Given the description of an element on the screen output the (x, y) to click on. 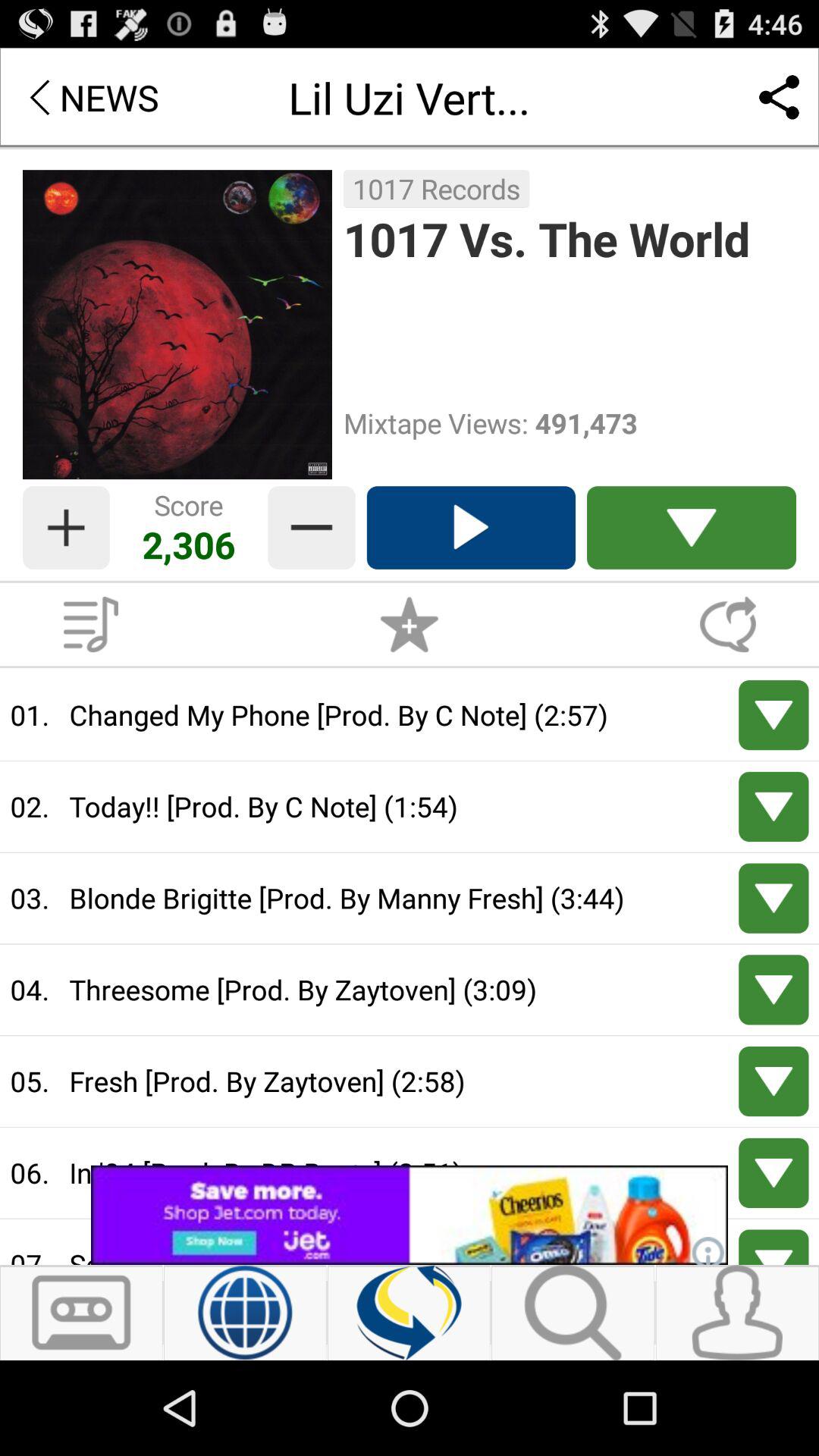
play (773, 1246)
